Given the description of an element on the screen output the (x, y) to click on. 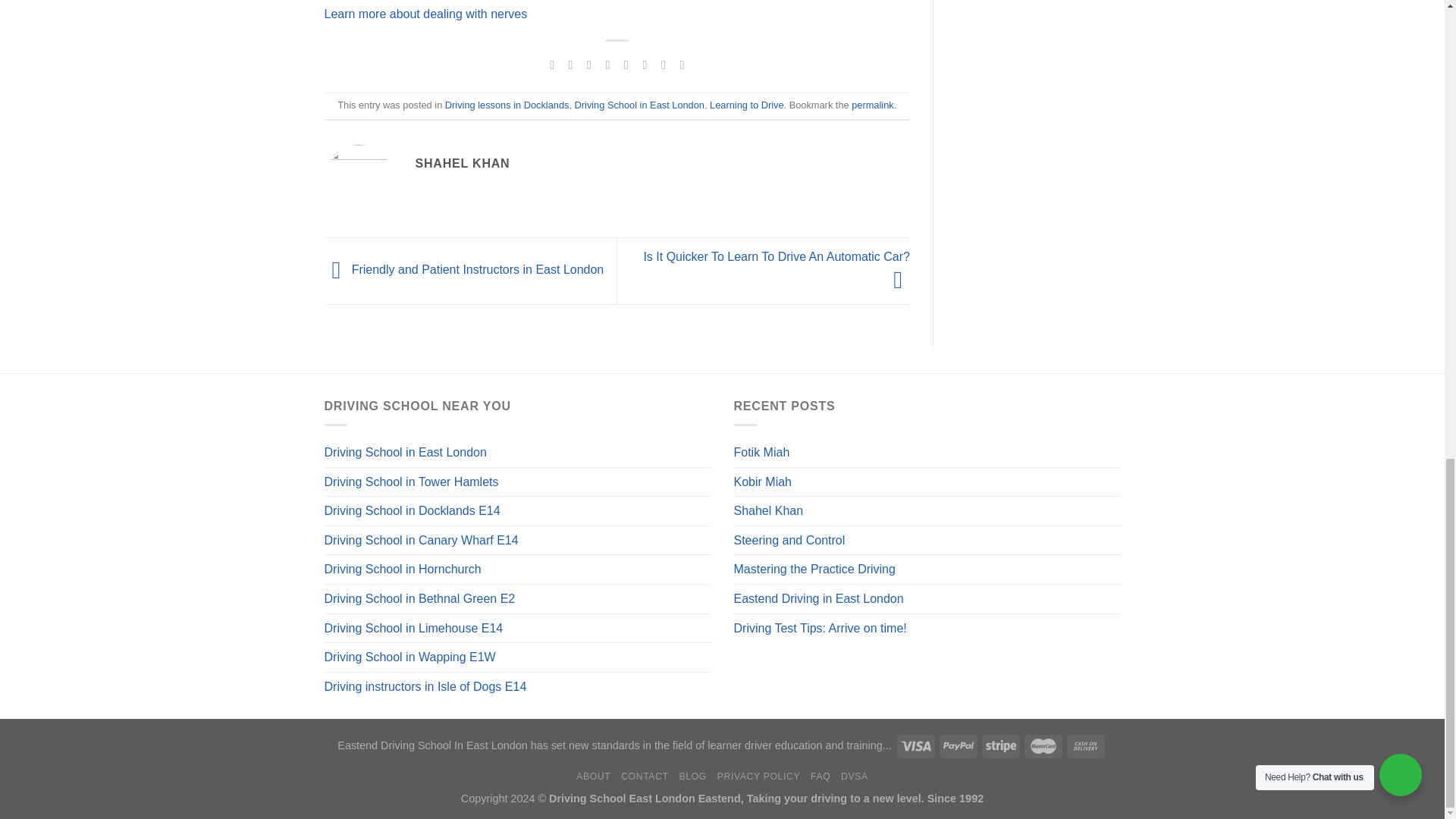
Share on LinkedIn (644, 64)
Share on Telegram (681, 64)
Share on Tumblr (663, 64)
Share on VKontakte (625, 64)
Learn more about dealing with nerves (425, 13)
